Given the description of an element on the screen output the (x, y) to click on. 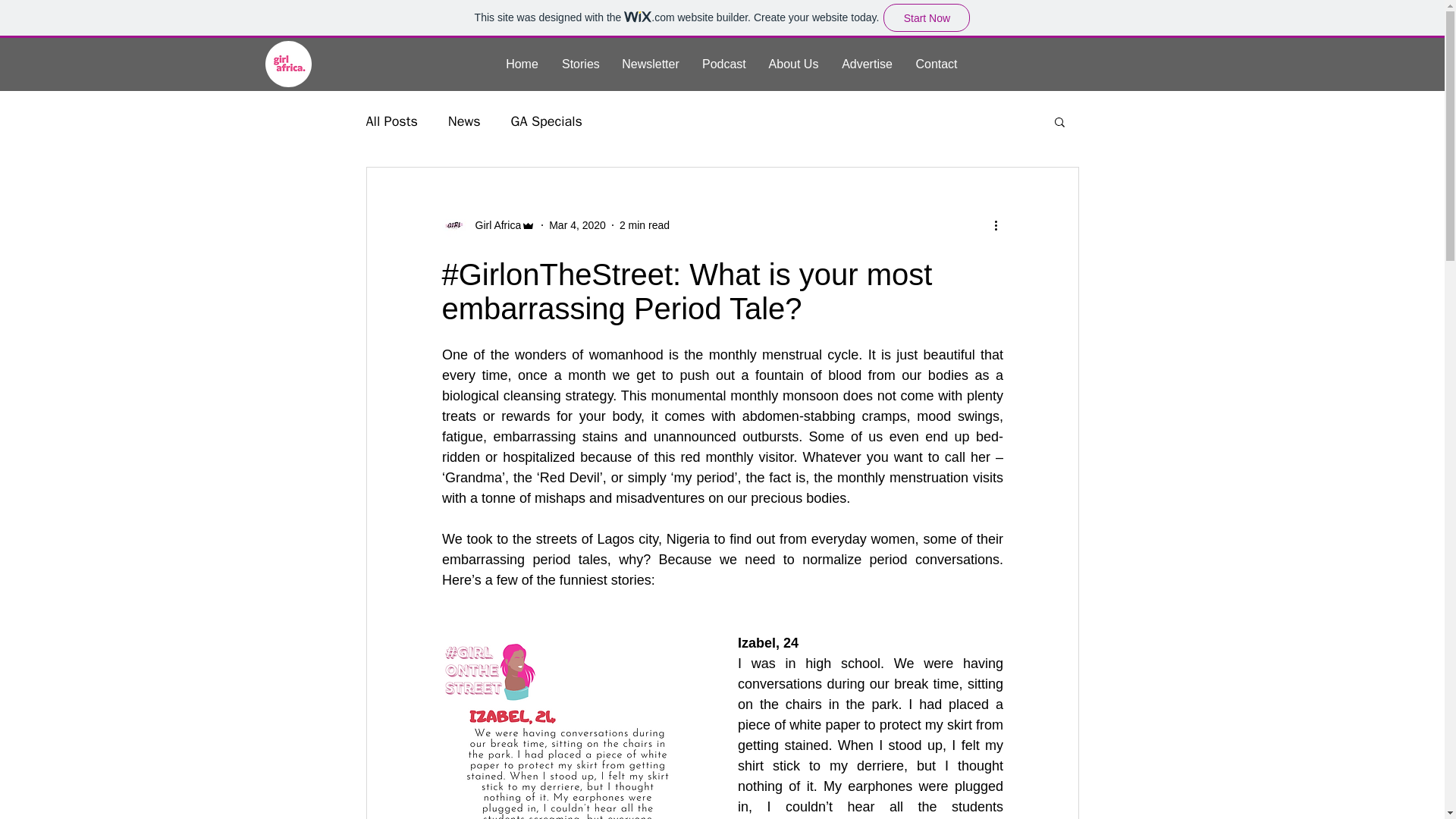
Home (521, 63)
About Us (793, 63)
GA Specials (546, 121)
News (464, 121)
Mar 4, 2020 (576, 224)
Newsletter (650, 63)
Contact (936, 63)
Advertise (866, 63)
All Posts (390, 121)
Girl Africa (488, 224)
2 min read (644, 224)
Stories (580, 63)
Girl Africa (493, 224)
Podcast (723, 63)
